Given the description of an element on the screen output the (x, y) to click on. 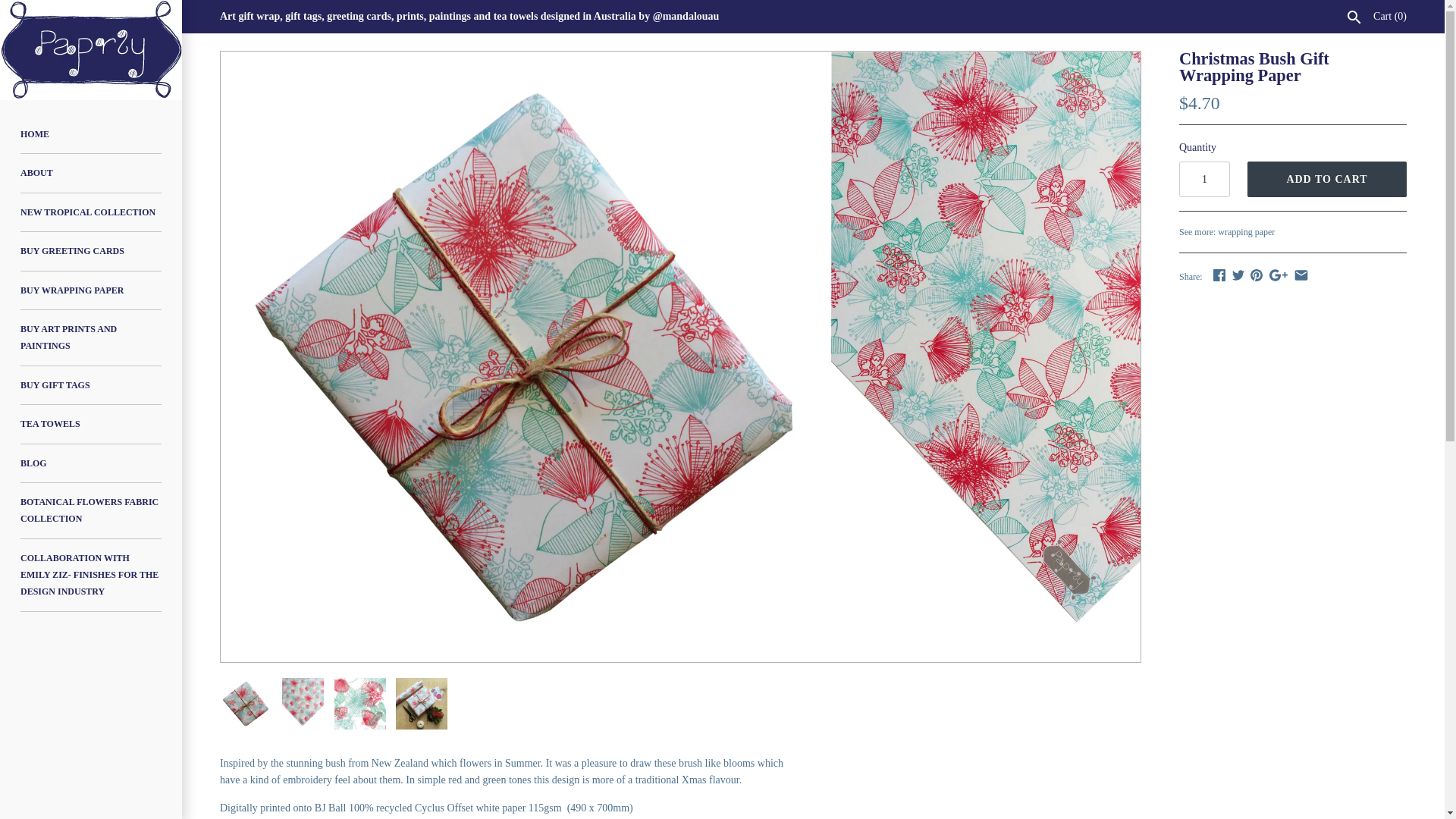
wrapping paper (1246, 231)
Twitter (1237, 275)
BLOG (90, 463)
Share on Twitter (1237, 274)
Pinterest (1256, 275)
Facebook (1218, 274)
Facebook (1218, 275)
BUY GIFT TAGS (90, 385)
Share using email (1301, 274)
paprly (91, 49)
BUY GREETING CARDS (90, 251)
ADD TO CART (1326, 179)
Share on Facebook (1218, 274)
Twitter (1237, 274)
